Given the description of an element on the screen output the (x, y) to click on. 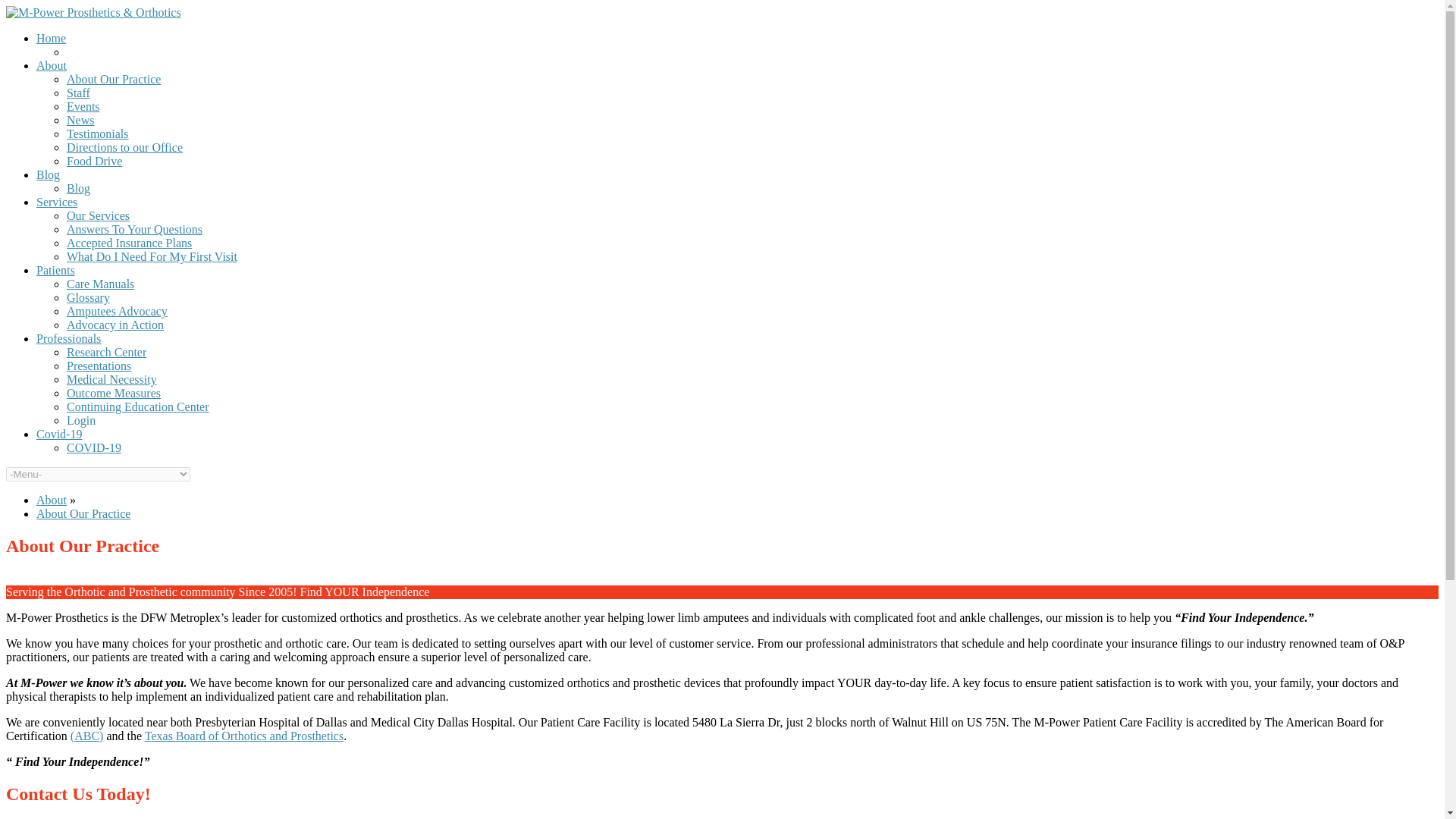
Presentations (98, 365)
Our Services (97, 215)
Texas Board of Orthotics and Prosthetics (243, 735)
Blog (78, 187)
Continuing Education Center (137, 406)
Home (50, 38)
What Do I Need For My First Visit (151, 256)
Answers To Your Questions (134, 228)
Care Manuals (99, 283)
COVID-19 (93, 447)
Events (83, 106)
Accepted Insurance Plans (129, 242)
Amputees Advocacy (116, 310)
About (51, 499)
About (51, 65)
